Given the description of an element on the screen output the (x, y) to click on. 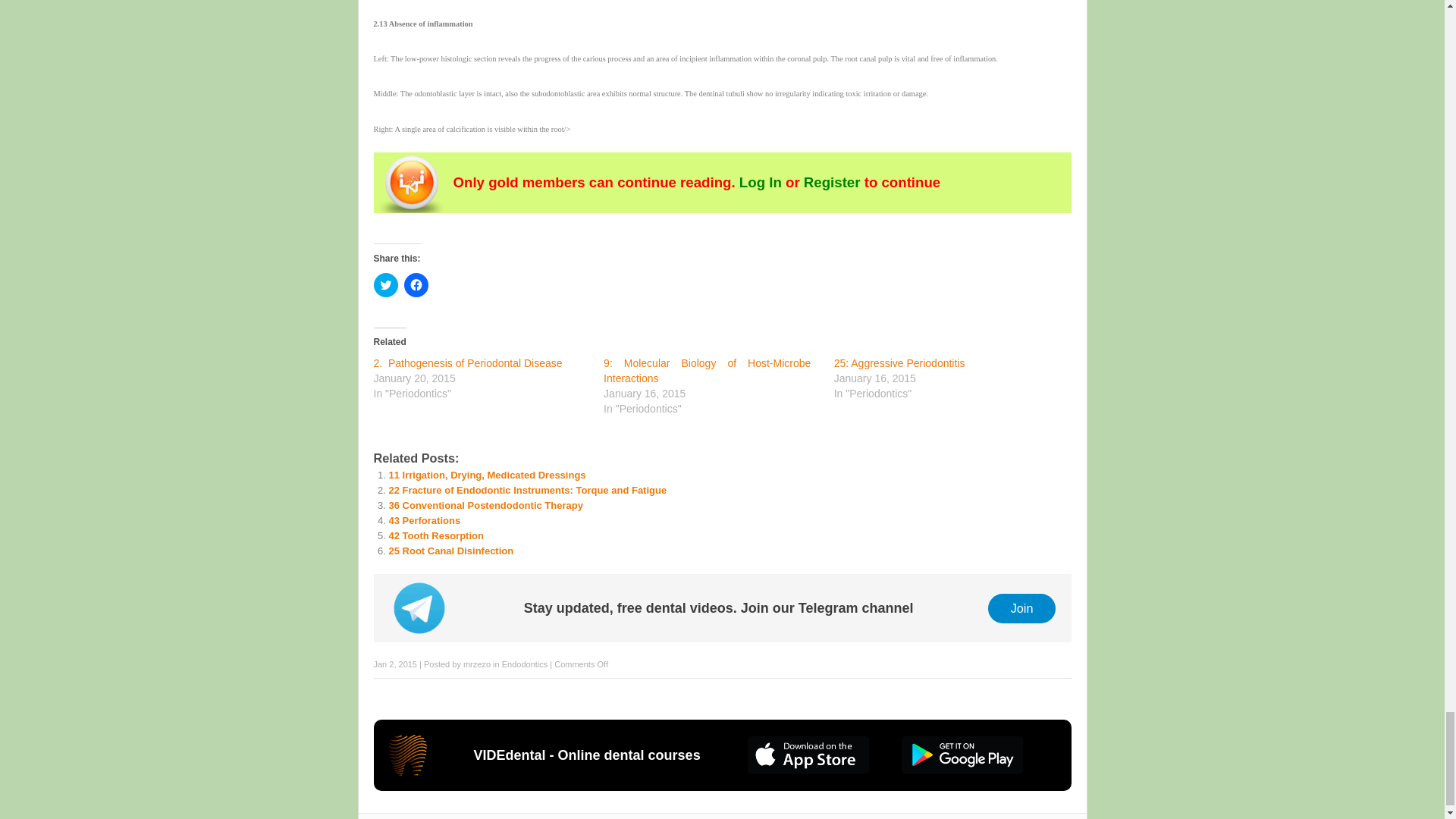
43 Perforations (424, 520)
36 Conventional Postendodontic Therapy (485, 505)
9: Molecular Biology of Host-Microbe Interactions (707, 370)
11 Irrigation, Drying, Medicated Dressings (486, 474)
Click to share on Twitter (384, 284)
Posts by mrzezo (476, 664)
25: Aggressive Periodontitis (899, 363)
Click to share on Facebook (415, 284)
22 Fracture of Endodontic Instruments: Torque and Fatigue (527, 490)
